Given the description of an element on the screen output the (x, y) to click on. 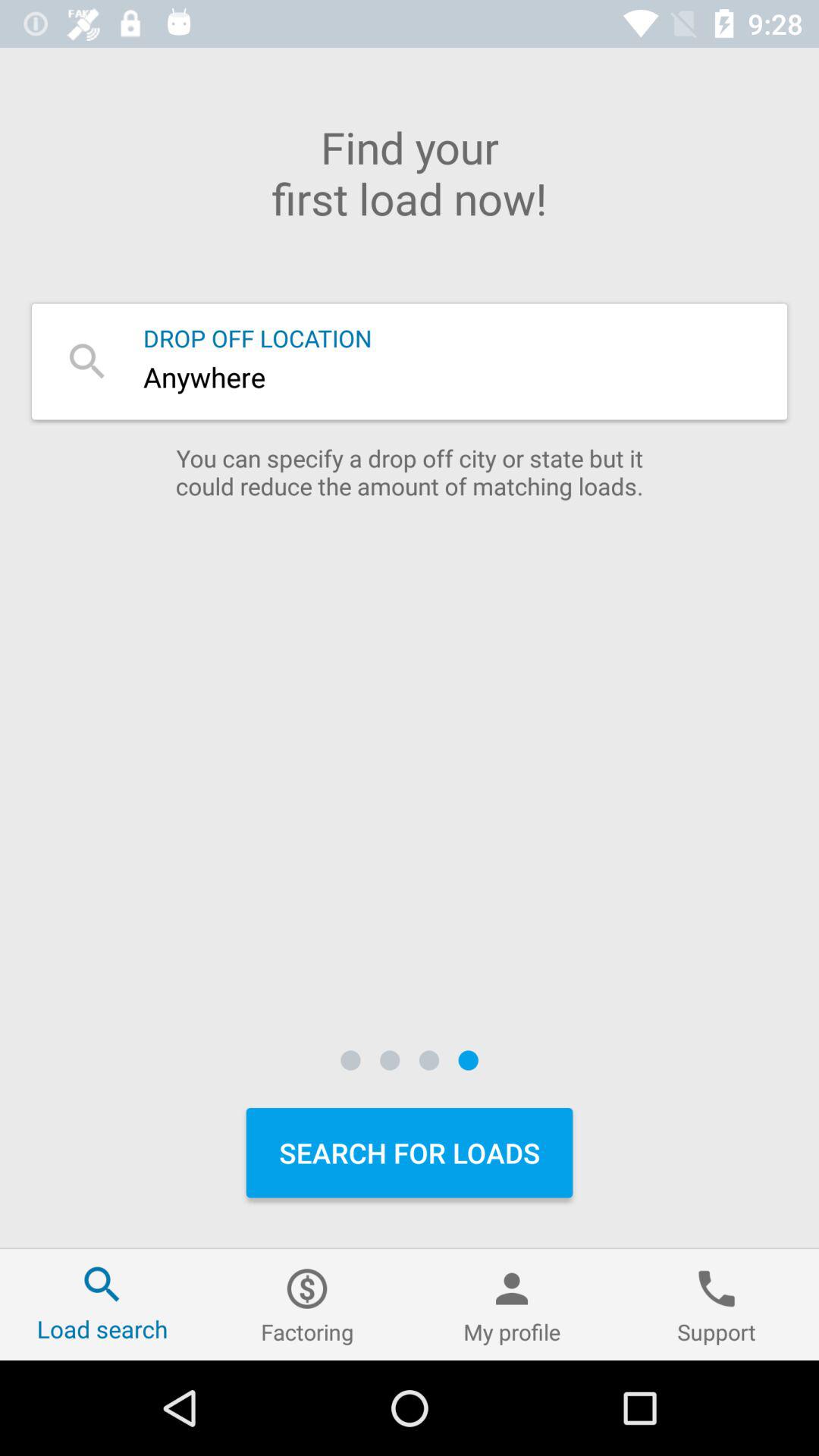
jump until search for loads icon (409, 1152)
